Given the description of an element on the screen output the (x, y) to click on. 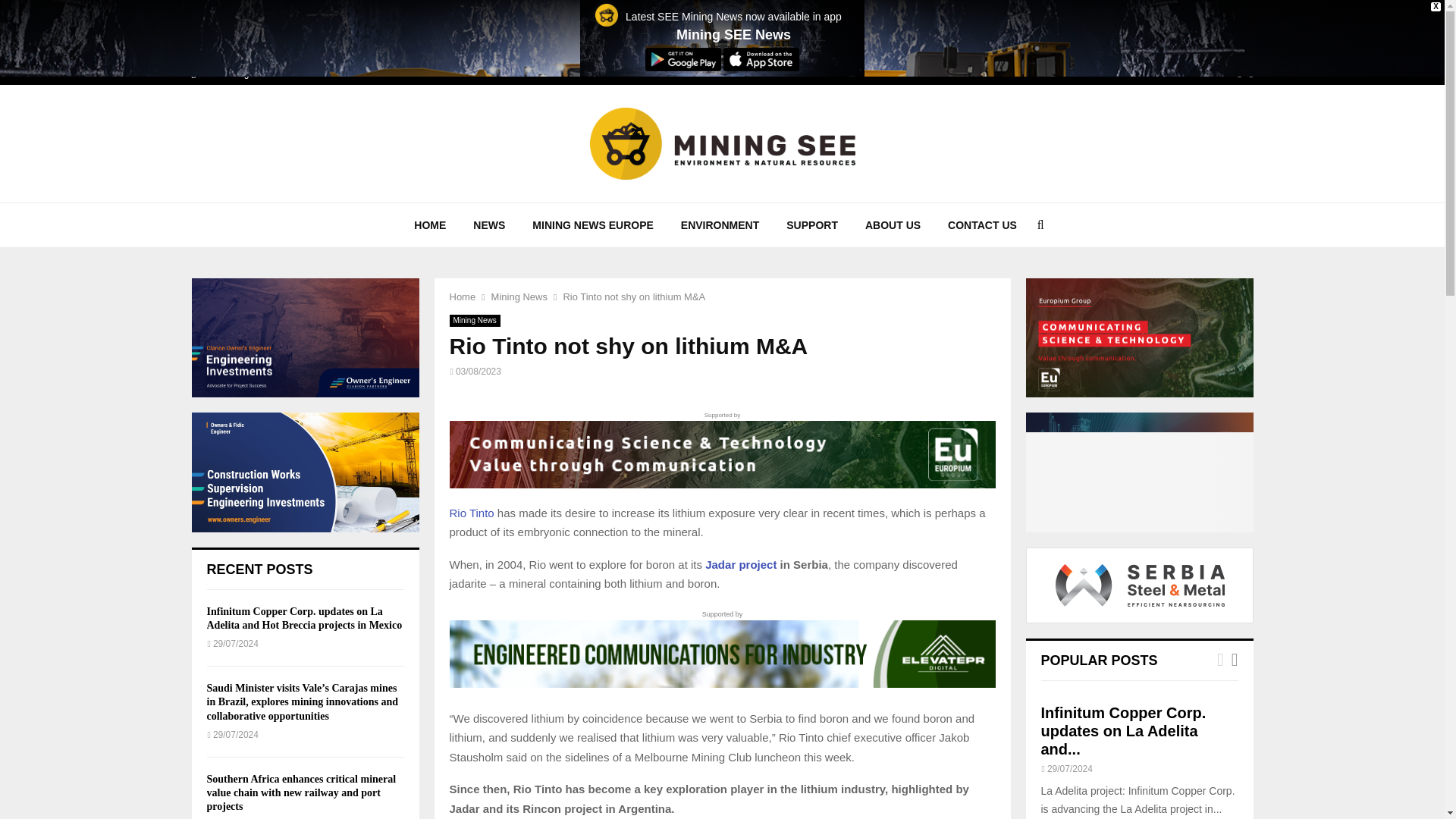
Rio Tinto (470, 512)
NEWS (489, 225)
HOME (430, 225)
SUPPORT (812, 225)
Jadar project (740, 563)
ABOUT US (892, 225)
Mining News (519, 296)
Mining News (473, 320)
MINING NEWS EUROPE (592, 225)
Home (462, 296)
CONTACT US (982, 225)
ENVIRONMENT (719, 225)
Supported by (721, 449)
